Given the description of an element on the screen output the (x, y) to click on. 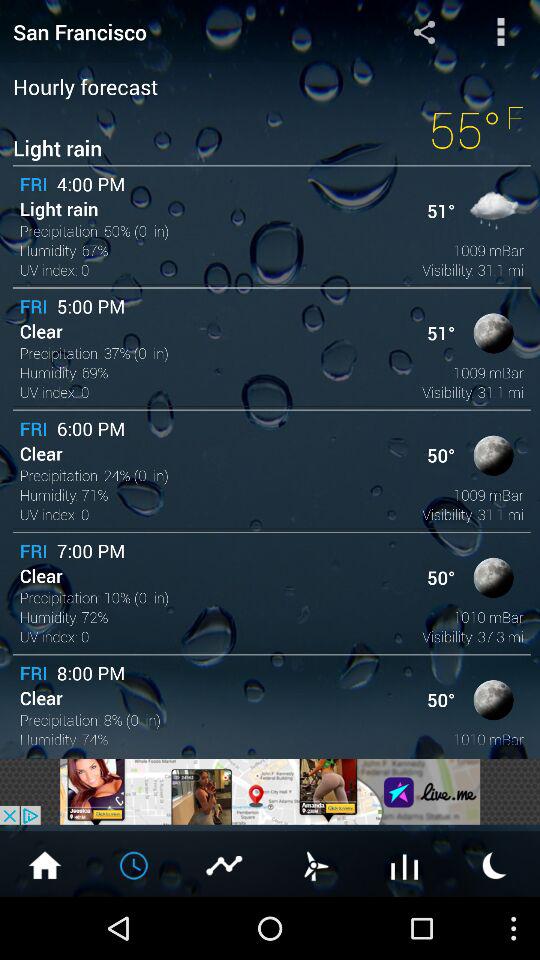
open the menu (500, 31)
